Given the description of an element on the screen output the (x, y) to click on. 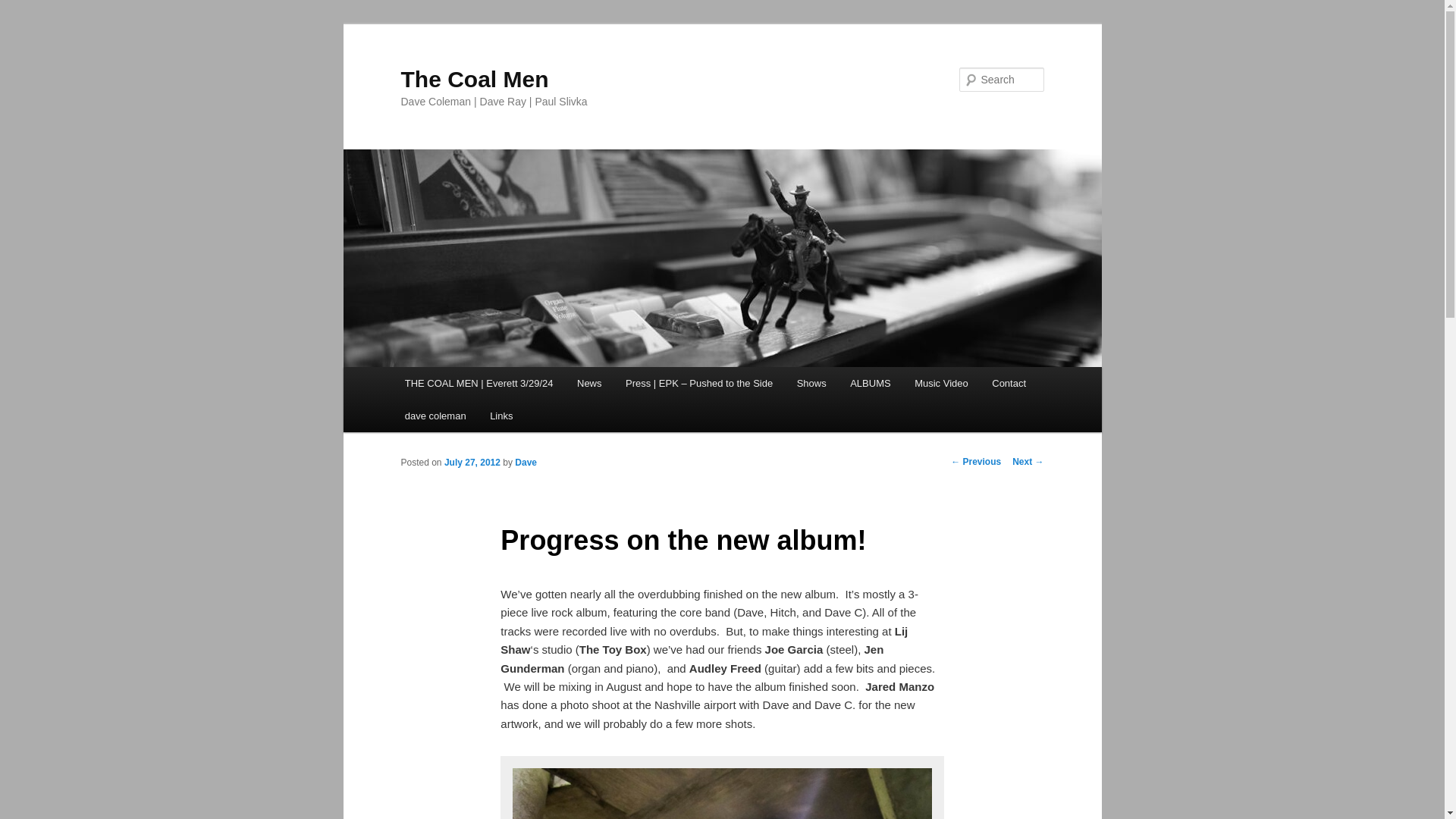
Dave (526, 462)
The Coal Men (474, 78)
Airport Staircase (721, 790)
dave coleman (435, 415)
View all posts by Dave (526, 462)
Links (500, 415)
July 27, 2012 (472, 462)
ALBUMS (870, 382)
5:12 pm (472, 462)
Music Video (940, 382)
